Given the description of an element on the screen output the (x, y) to click on. 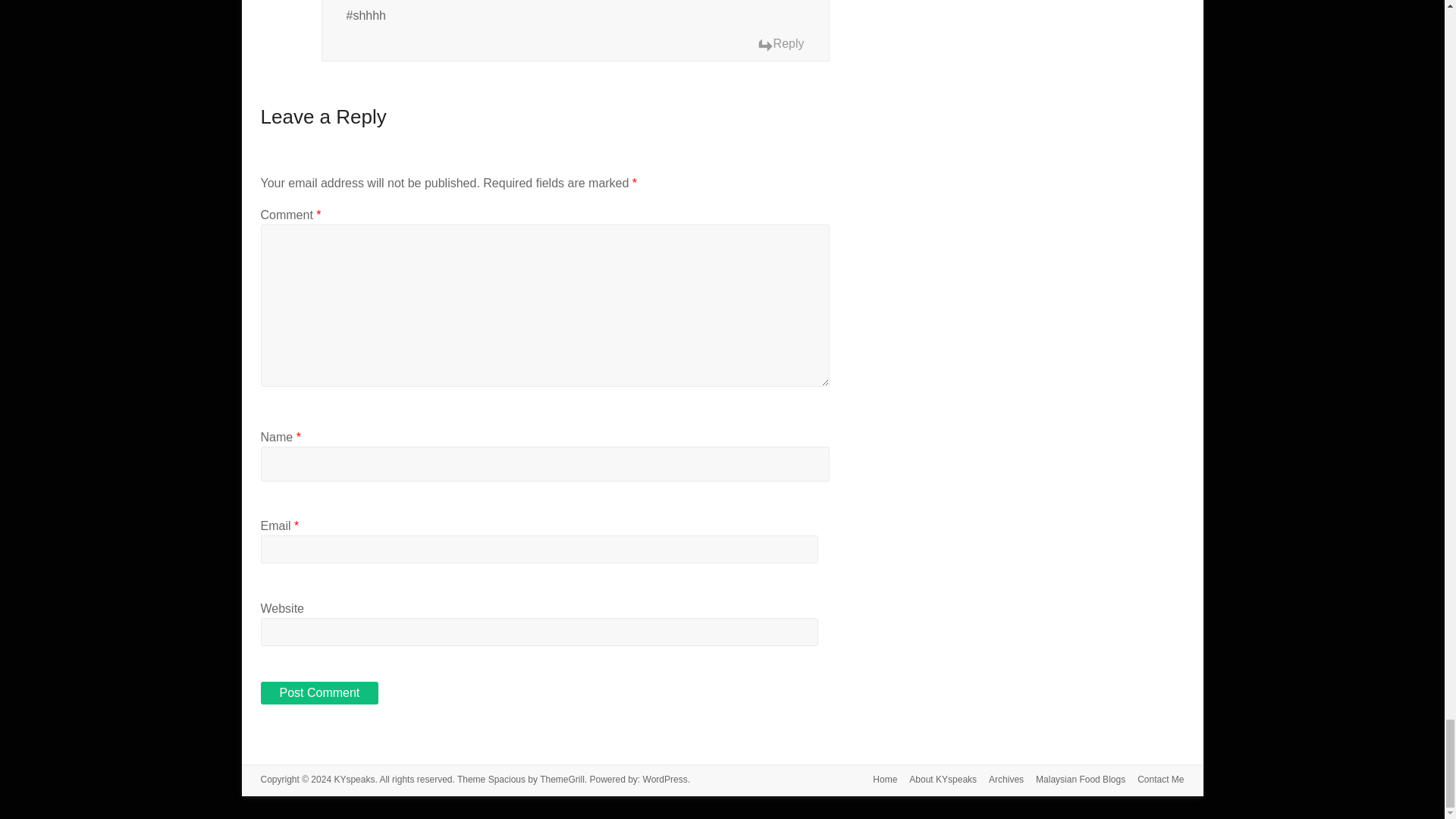
Post Comment (319, 692)
KYspeaks (353, 778)
Spacious (506, 778)
WordPress (665, 778)
